Given the description of an element on the screen output the (x, y) to click on. 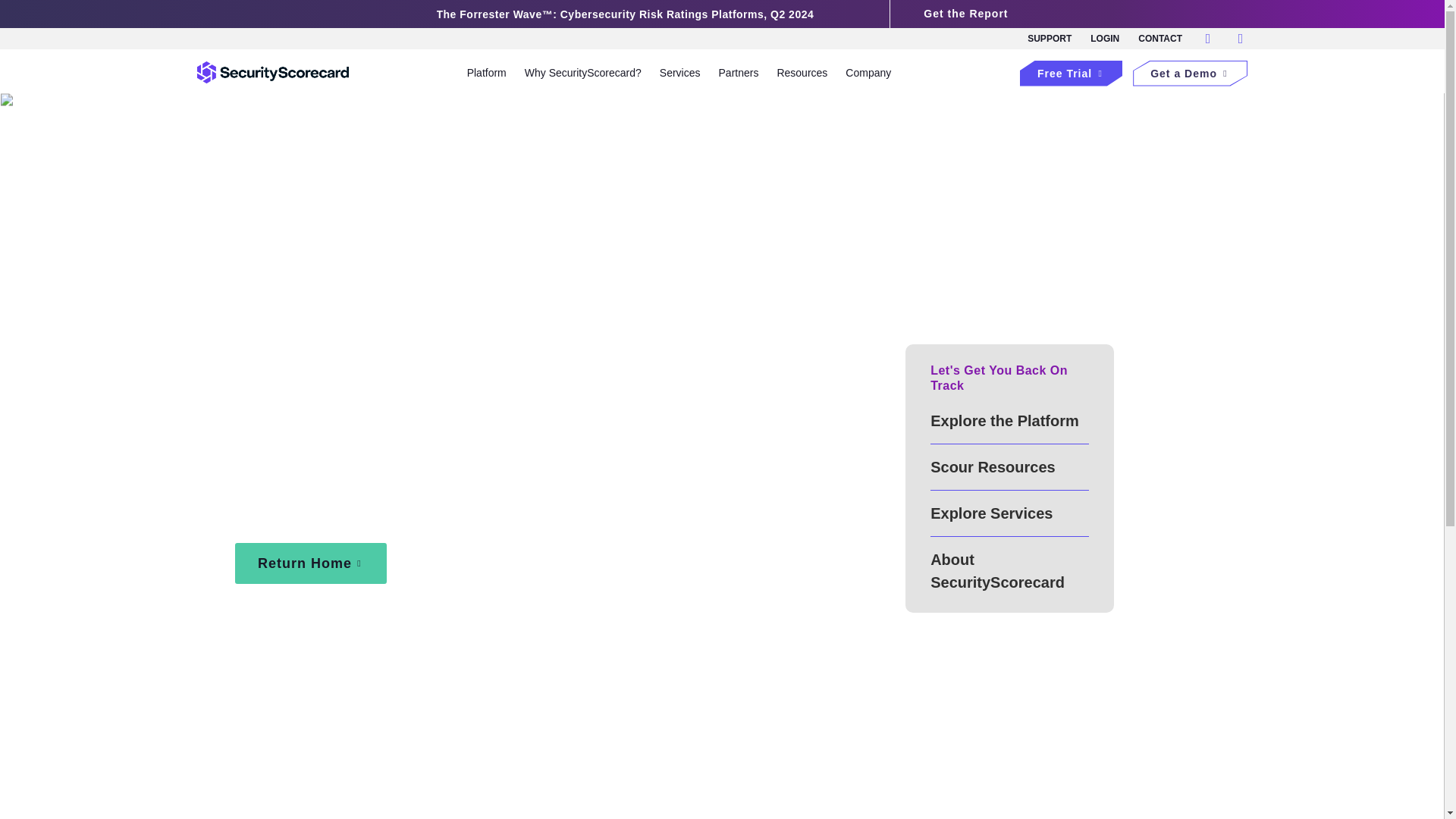
Platform (486, 71)
SUPPORT (1049, 38)
LOGIN (1104, 38)
Get the Report (965, 13)
CONTACT (1160, 38)
